Given the description of an element on the screen output the (x, y) to click on. 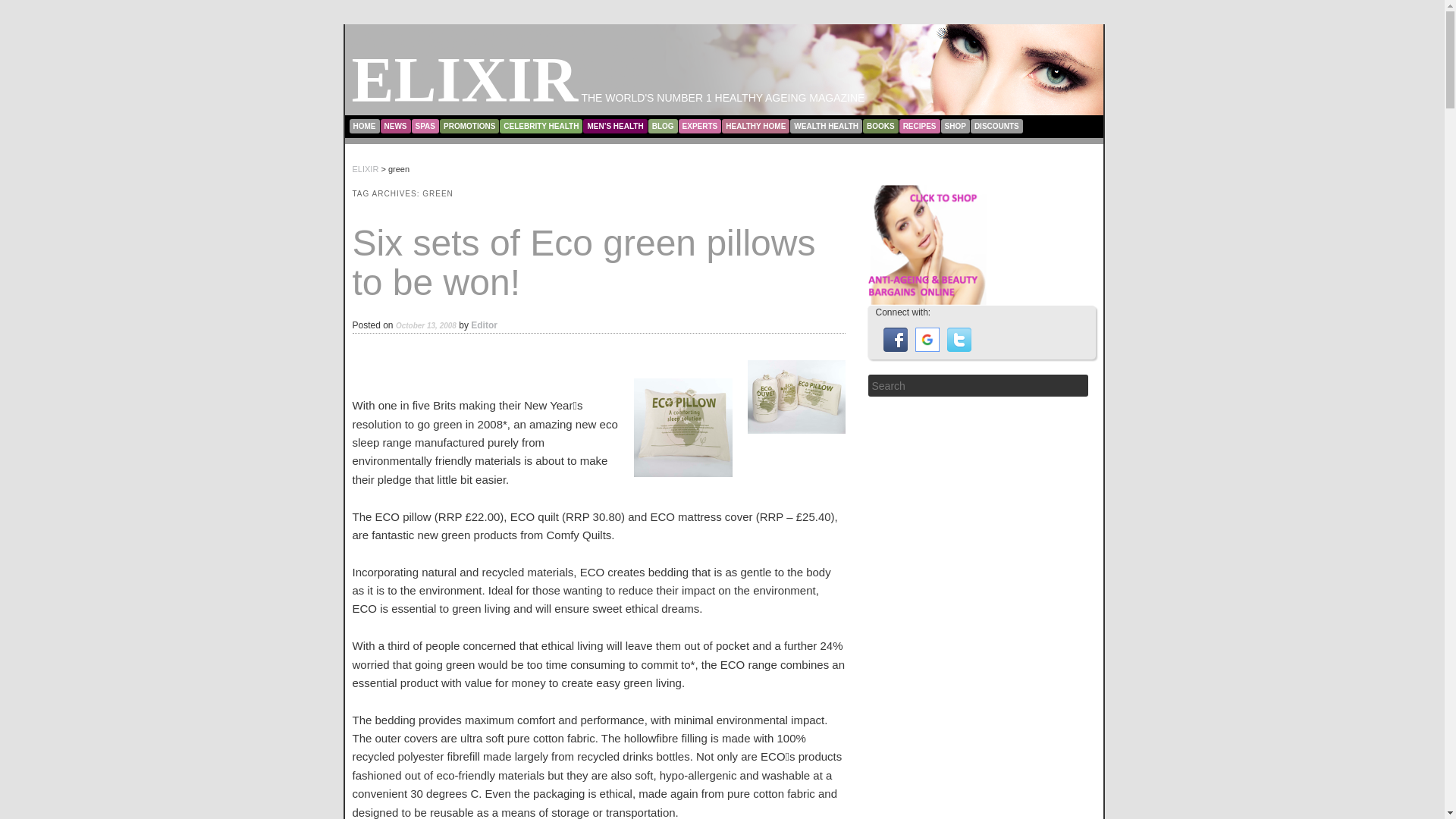
Go to ELIXIR. (365, 168)
9:05 pm (426, 325)
DISCOUNTS (997, 125)
SHOP (954, 125)
BLOG (662, 125)
EXPERTS (700, 125)
RECIPES (919, 125)
PROMOTIONS (469, 125)
SKIP TO SECONDARY CONTENT (417, 121)
NEWS (395, 125)
WEALTH HEALTH (825, 125)
HOME (363, 125)
Permalink to Six sets of Eco green pillows to be won! (583, 262)
View all posts by Editor (483, 325)
SKIP TO PRIMARY CONTENT (409, 121)
